Given the description of an element on the screen output the (x, y) to click on. 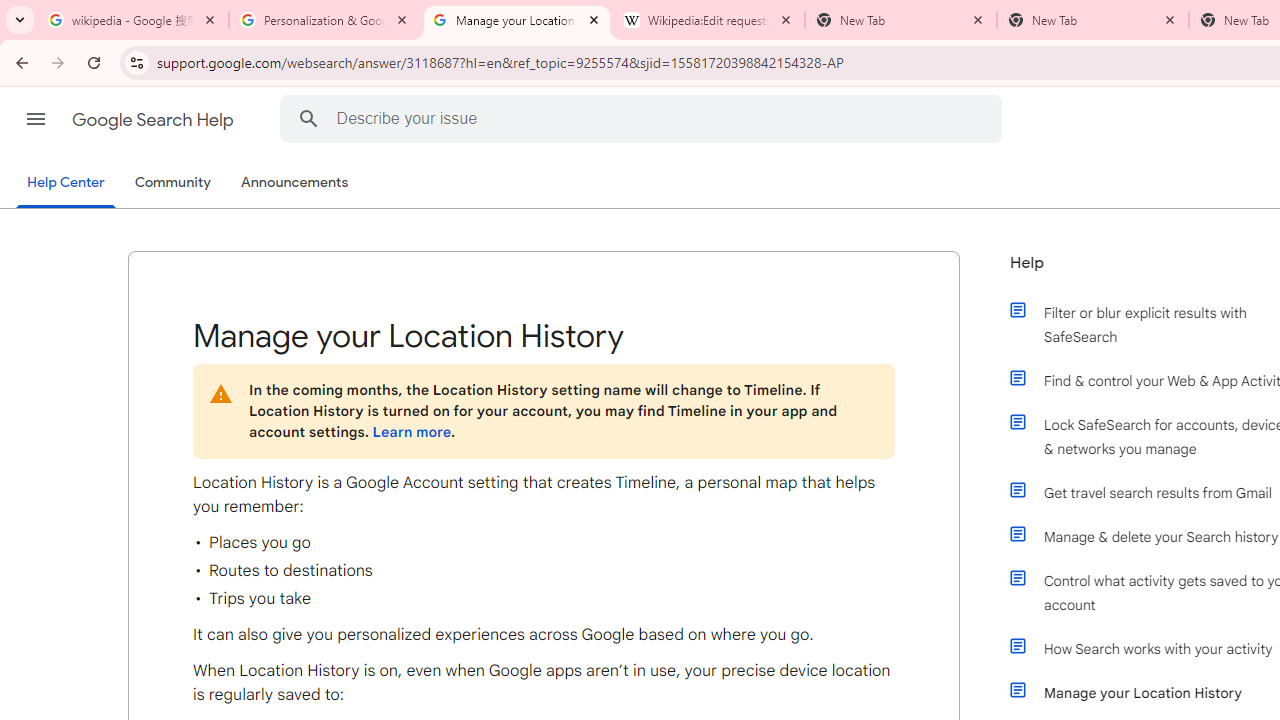
View site information (136, 62)
Google Search Help (154, 119)
Personalization & Google Search results - Google Search Help (325, 20)
Main menu (35, 119)
New Tab (1093, 20)
Help Center (65, 183)
Describe your issue (643, 118)
Manage your Location History - Google Search Help (517, 20)
